Given the description of an element on the screen output the (x, y) to click on. 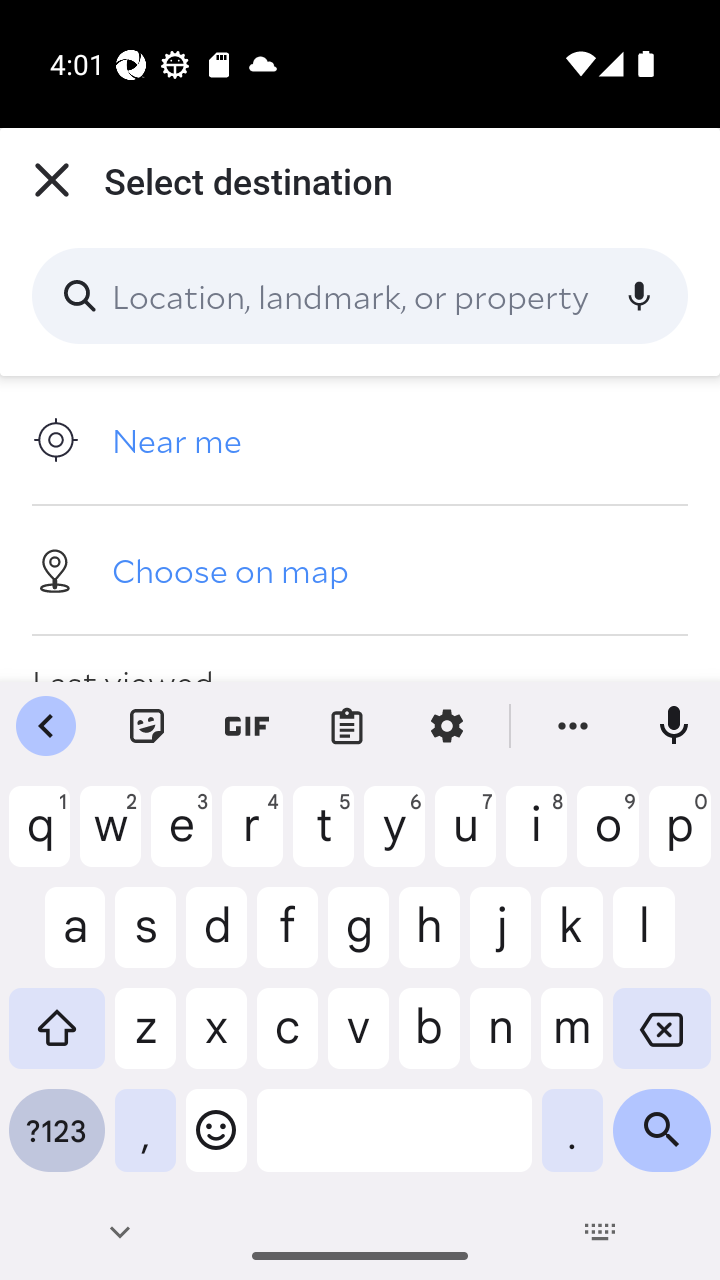
Location, landmark, or property (359, 296)
Near me (360, 440)
Choose on map (360, 569)
